Given the description of an element on the screen output the (x, y) to click on. 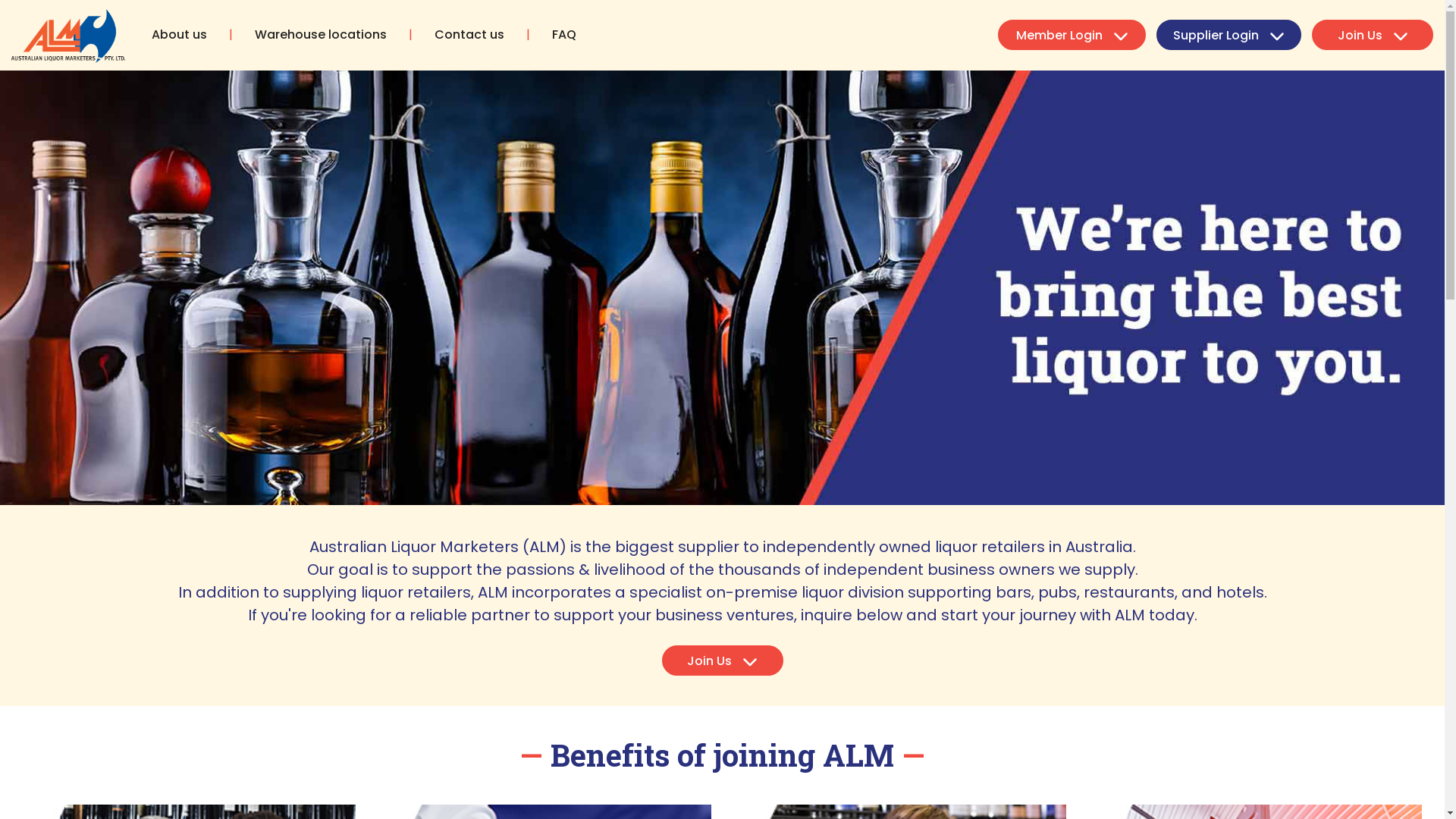
Warehouse locations Element type: text (320, 34)
Supplier Login Element type: text (1228, 34)
Member Login Element type: text (1071, 34)
Contact us Element type: text (469, 34)
About us Element type: text (178, 34)
Join Us Element type: text (721, 660)
Join Us Element type: text (1372, 34)
FAQ Element type: text (564, 34)
